Given the description of an element on the screen output the (x, y) to click on. 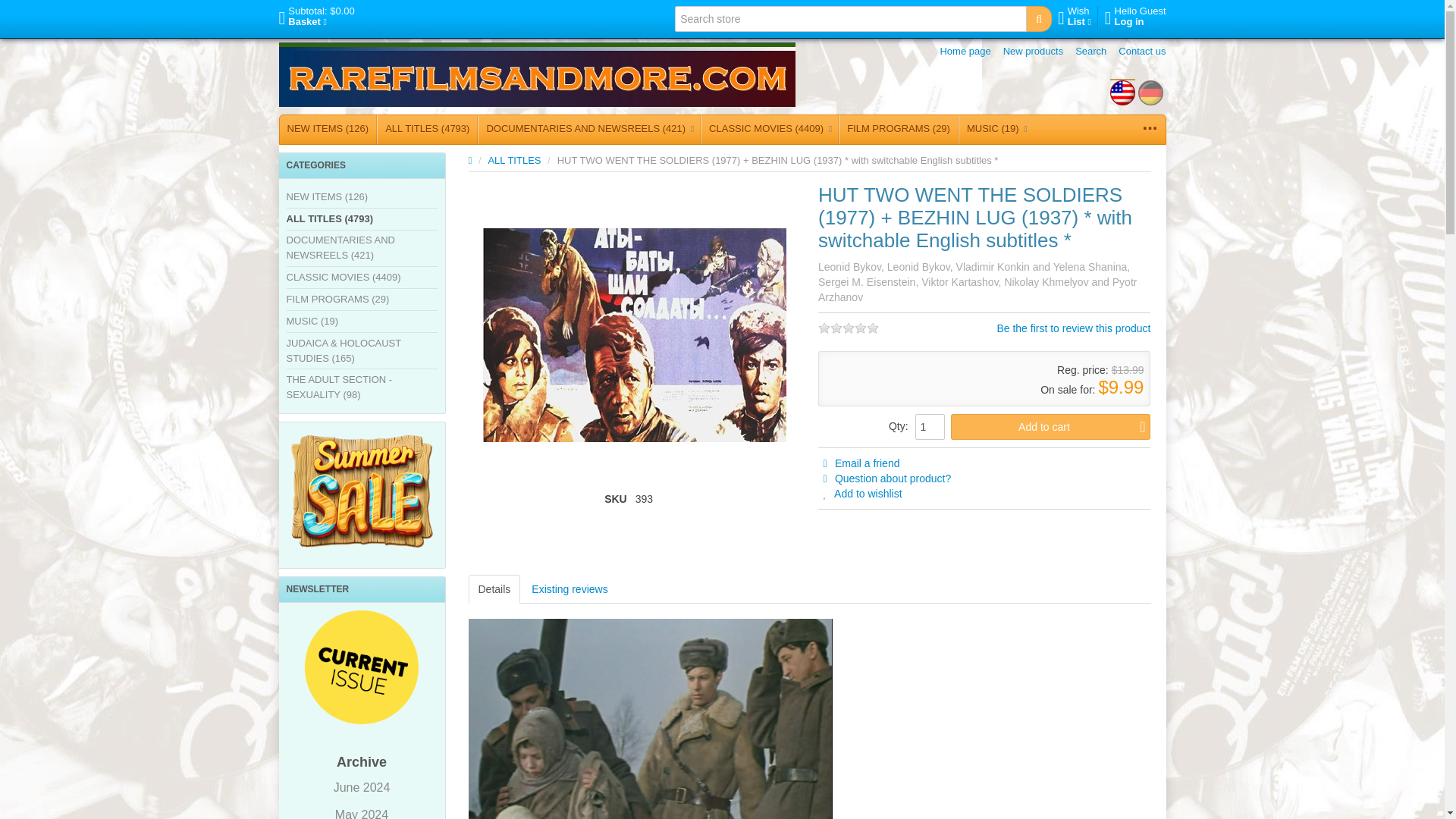
Home page (964, 51)
1 (929, 426)
English (1122, 92)
ALL  TITLES (515, 160)
New products (1032, 51)
Deutsch (1149, 92)
Contact us (1074, 16)
RAREFILMSANDMORE.COM (1135, 16)
Search (1142, 51)
Search (536, 74)
